Given the description of an element on the screen output the (x, y) to click on. 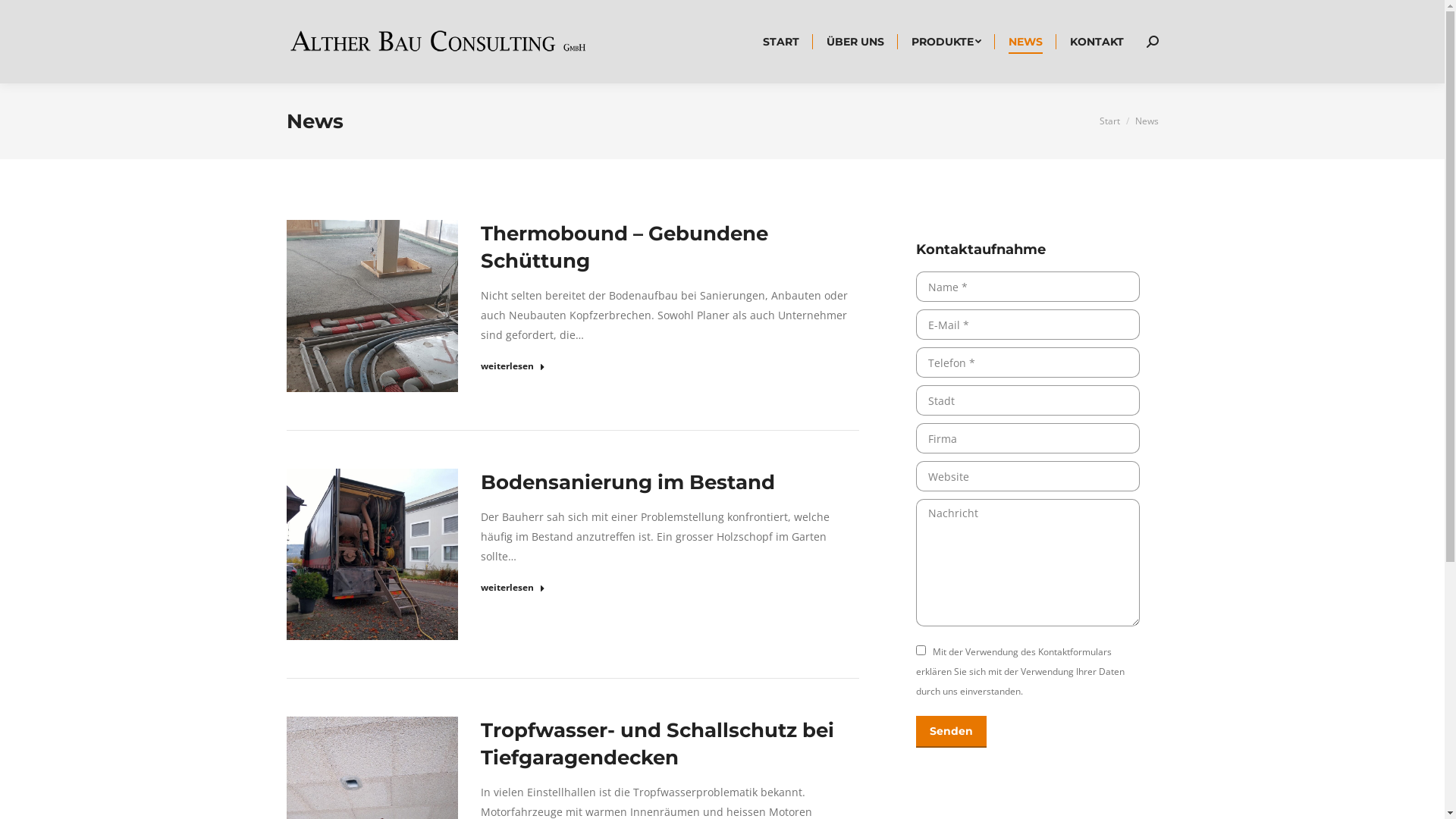
Tropfwasser- und Schallschutz bei Tiefgaragendecken Element type: text (657, 743)
PRODUKTE Element type: text (946, 41)
absenden Element type: text (1034, 730)
Start Element type: text (1109, 120)
Senden Element type: text (951, 730)
web_Thermotec_Mammern02 Element type: hover (372, 554)
NEWS Element type: text (1025, 41)
weiterlesen Element type: text (512, 369)
weiterlesen Element type: text (512, 589)
START Element type: text (780, 41)
Los! Element type: text (24, 15)
Bodensanierung im Bestand Element type: text (627, 482)
KONTAKT Element type: text (1096, 41)
